Given the description of an element on the screen output the (x, y) to click on. 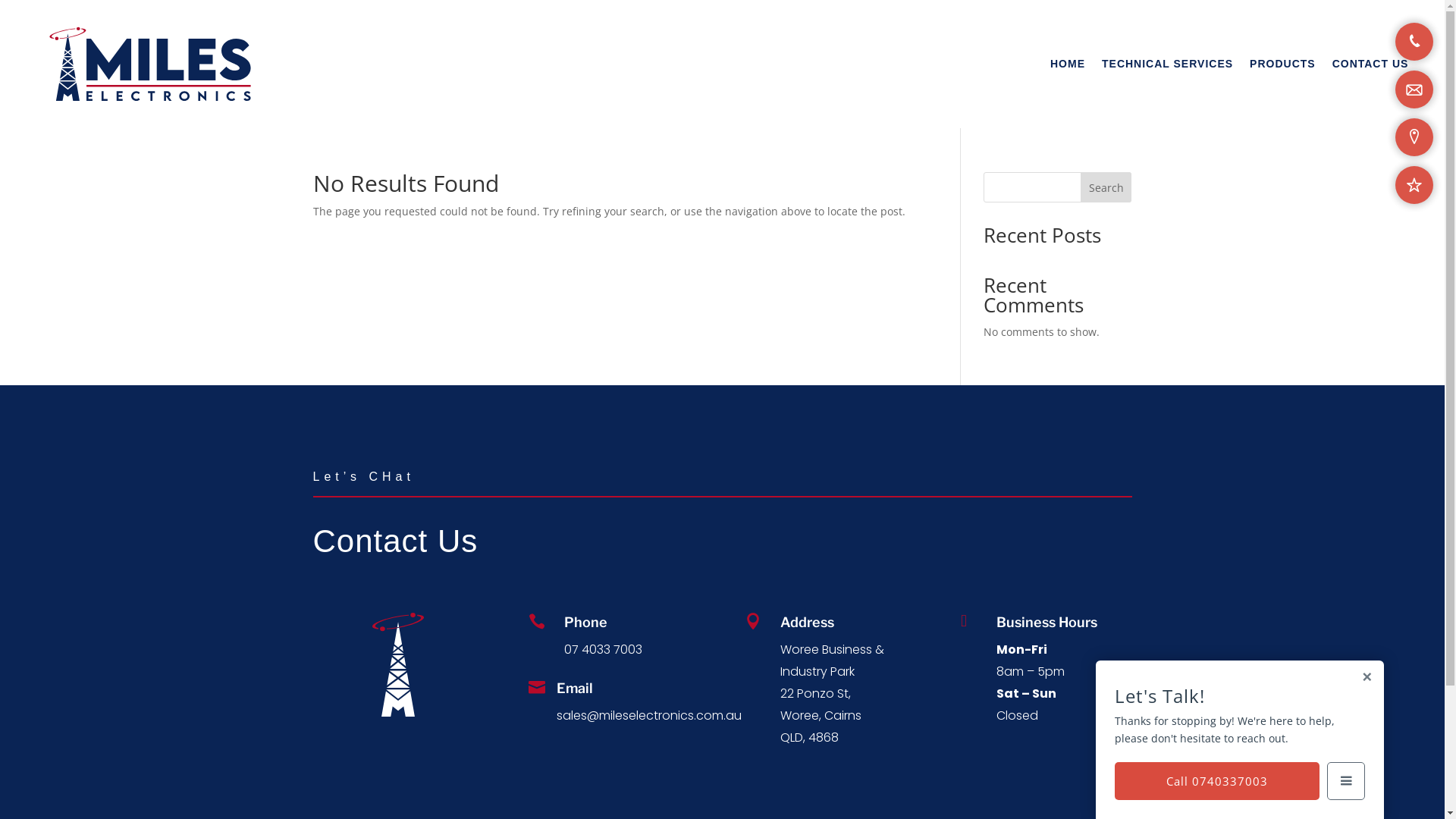
TECHNICAL SERVICES Element type: text (1167, 64)
PRODUCTS Element type: text (1282, 64)
CONTACT US Element type: text (1370, 64)
07 4033 7003 Element type: text (603, 649)
sales@mileselectronics.com.au Element type: text (648, 715)
Call 0740337003 Element type: text (1216, 781)
Search Element type: text (1106, 187)
HOME Element type: text (1067, 64)
